Given the description of an element on the screen output the (x, y) to click on. 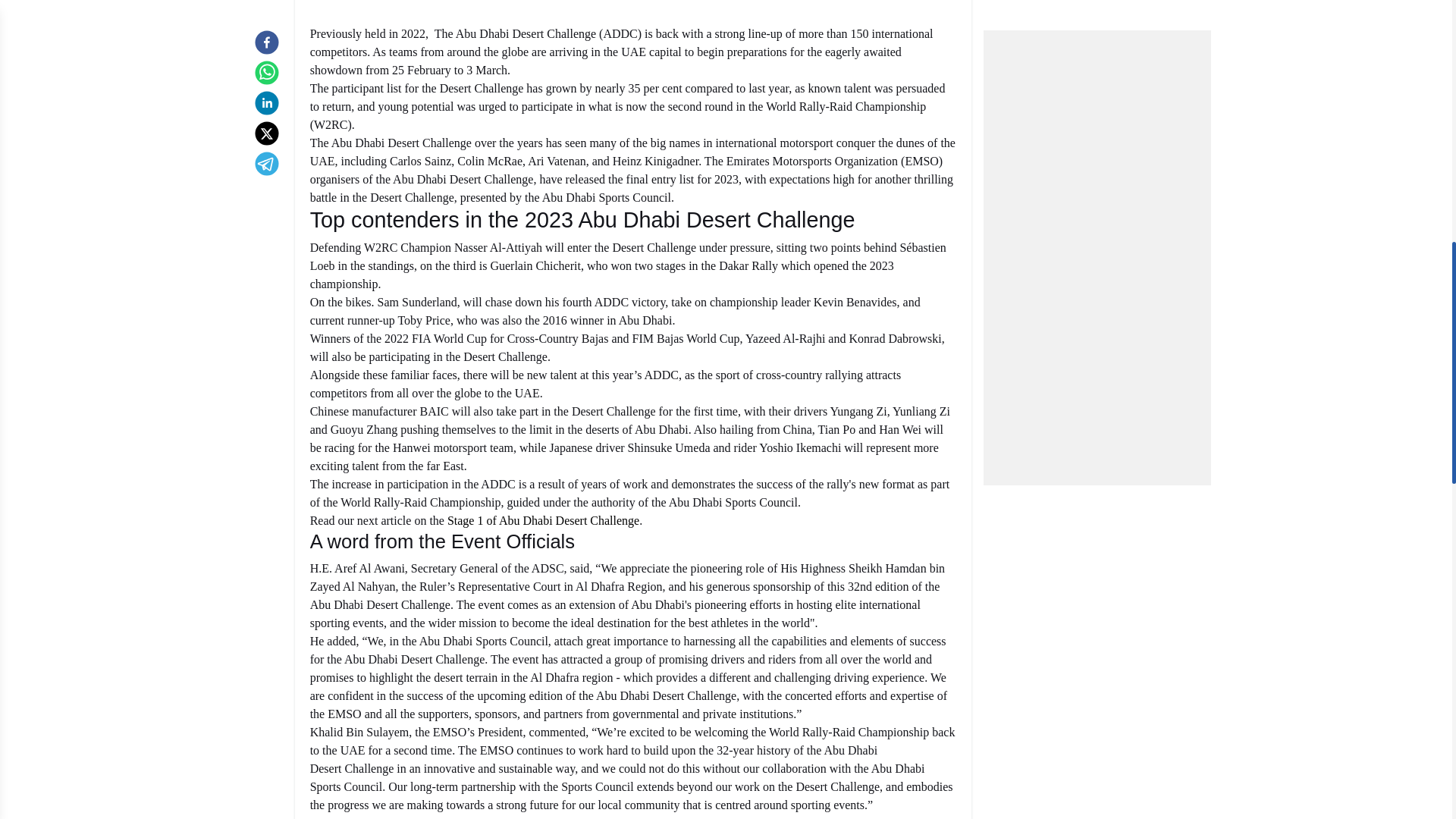
Stage 1 of Abu Dhabi Desert Challenge (542, 520)
